Given the description of an element on the screen output the (x, y) to click on. 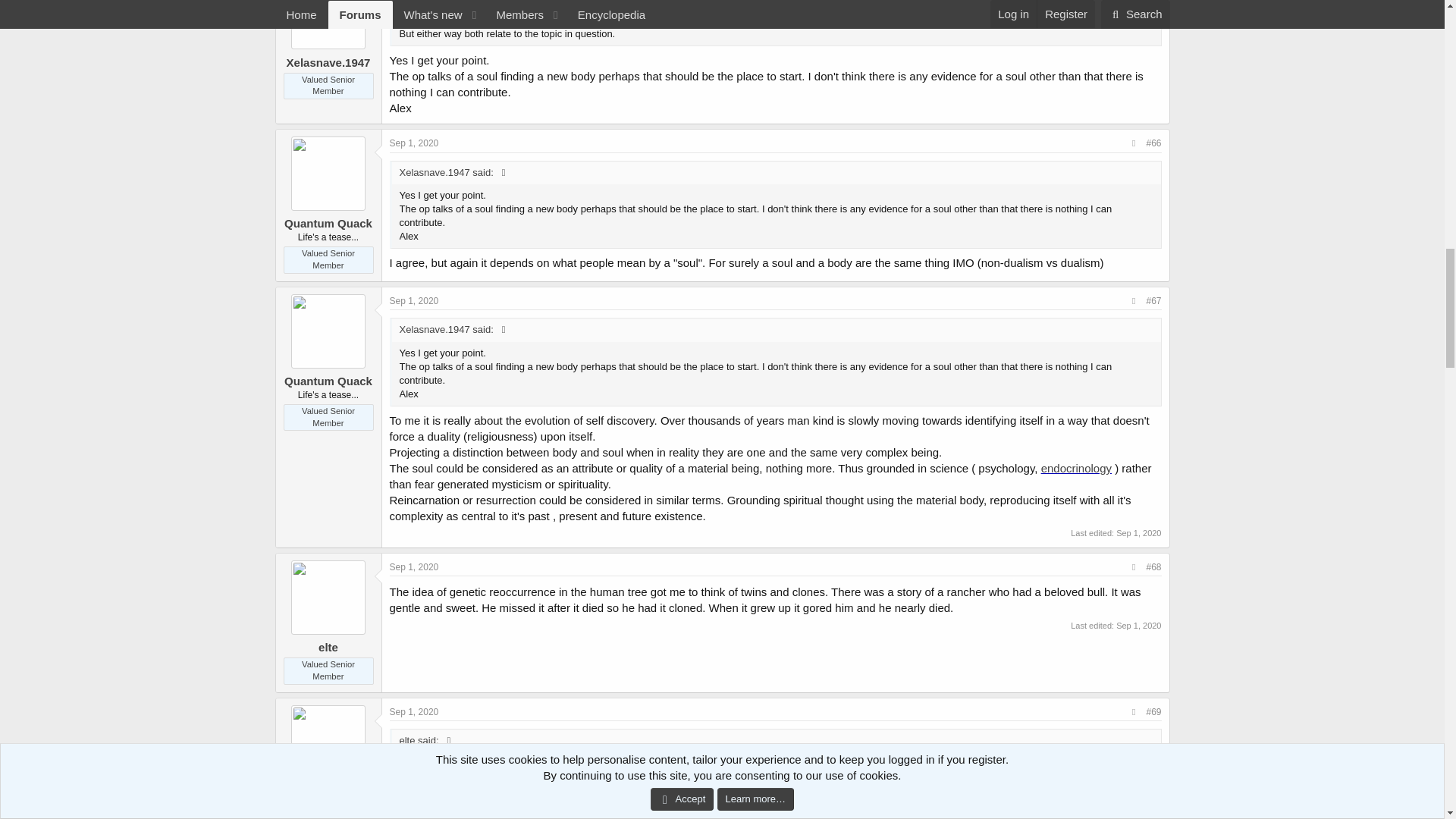
Sep 1, 2020 at 2:20 AM (414, 300)
Sep 1, 2020 at 2:08 AM (414, 143)
